Given the description of an element on the screen output the (x, y) to click on. 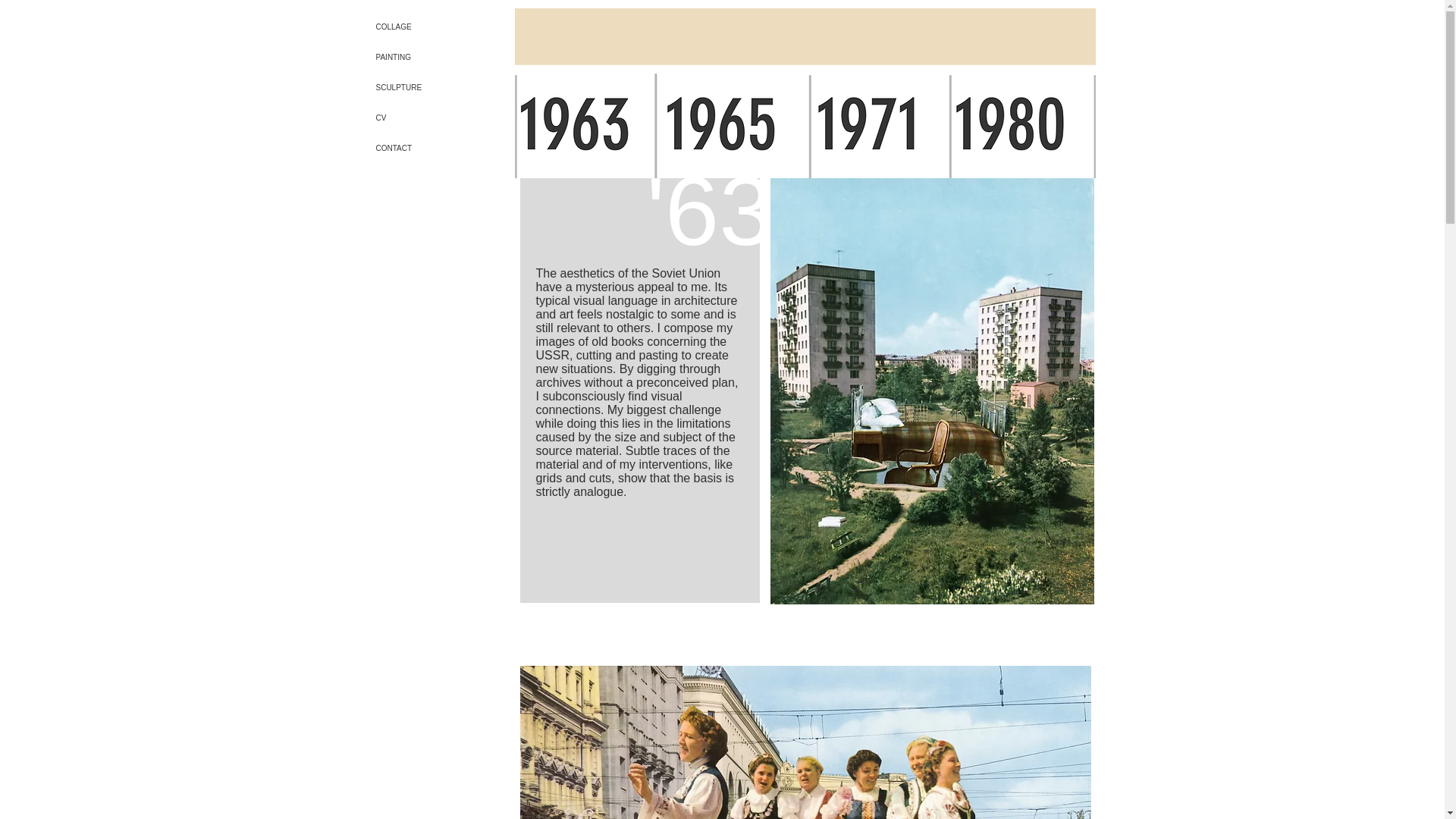
CV (424, 118)
PAINTING (424, 57)
COLLAGE (424, 27)
SCULPTURE (424, 87)
CONTACT (424, 148)
